Given the description of an element on the screen output the (x, y) to click on. 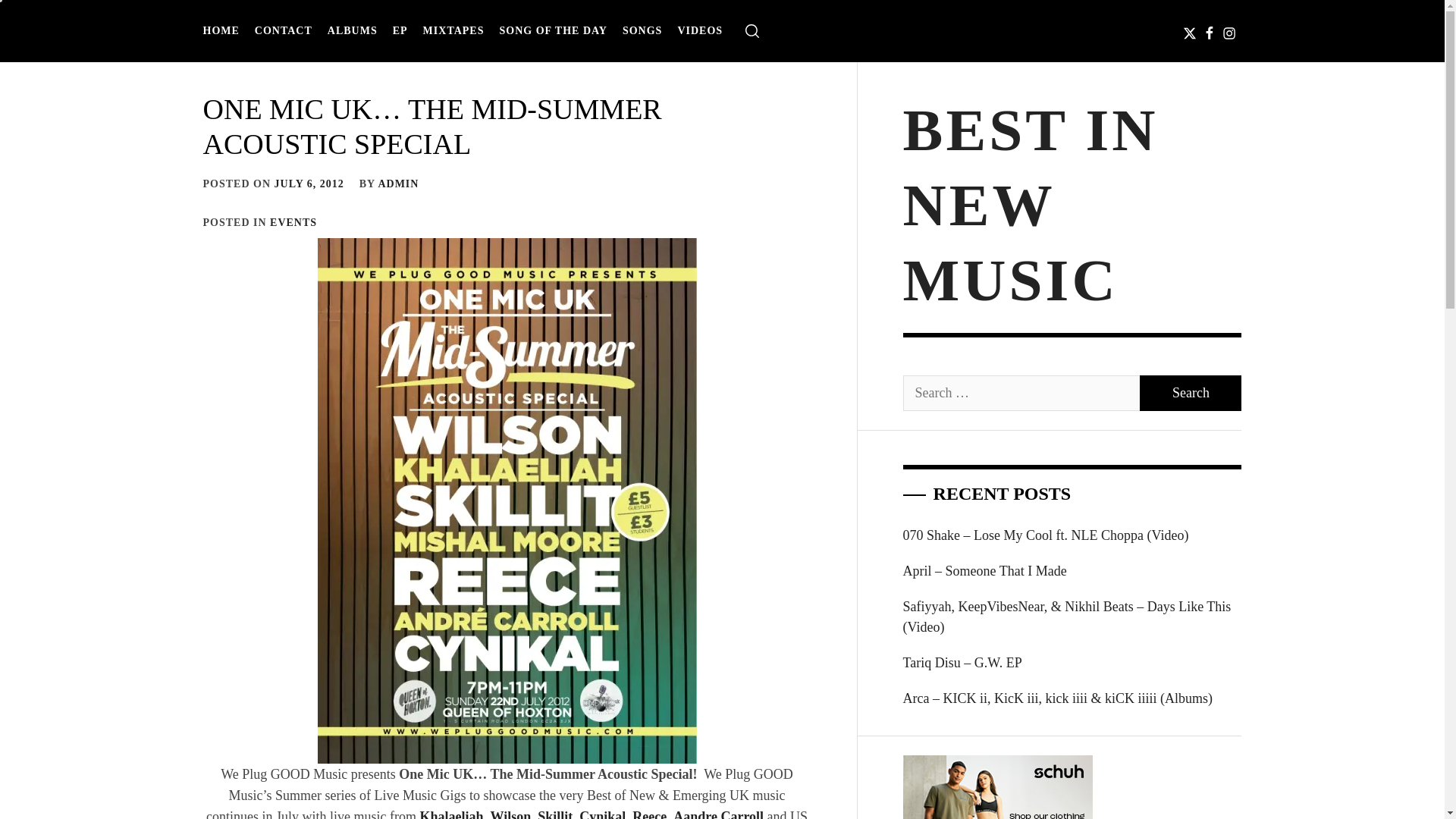
Cynikal (602, 814)
Search (1190, 393)
VIDEOS (699, 30)
Aandre Carroll (717, 814)
SONGS (641, 30)
EP (399, 30)
Search (1190, 393)
MIXTAPES (453, 30)
Khalaeliah (451, 814)
Wilson (510, 814)
Skillit (554, 814)
CONTACT (283, 30)
Search (797, 409)
ADMIN (398, 183)
Reece (648, 814)
